Given the description of an element on the screen output the (x, y) to click on. 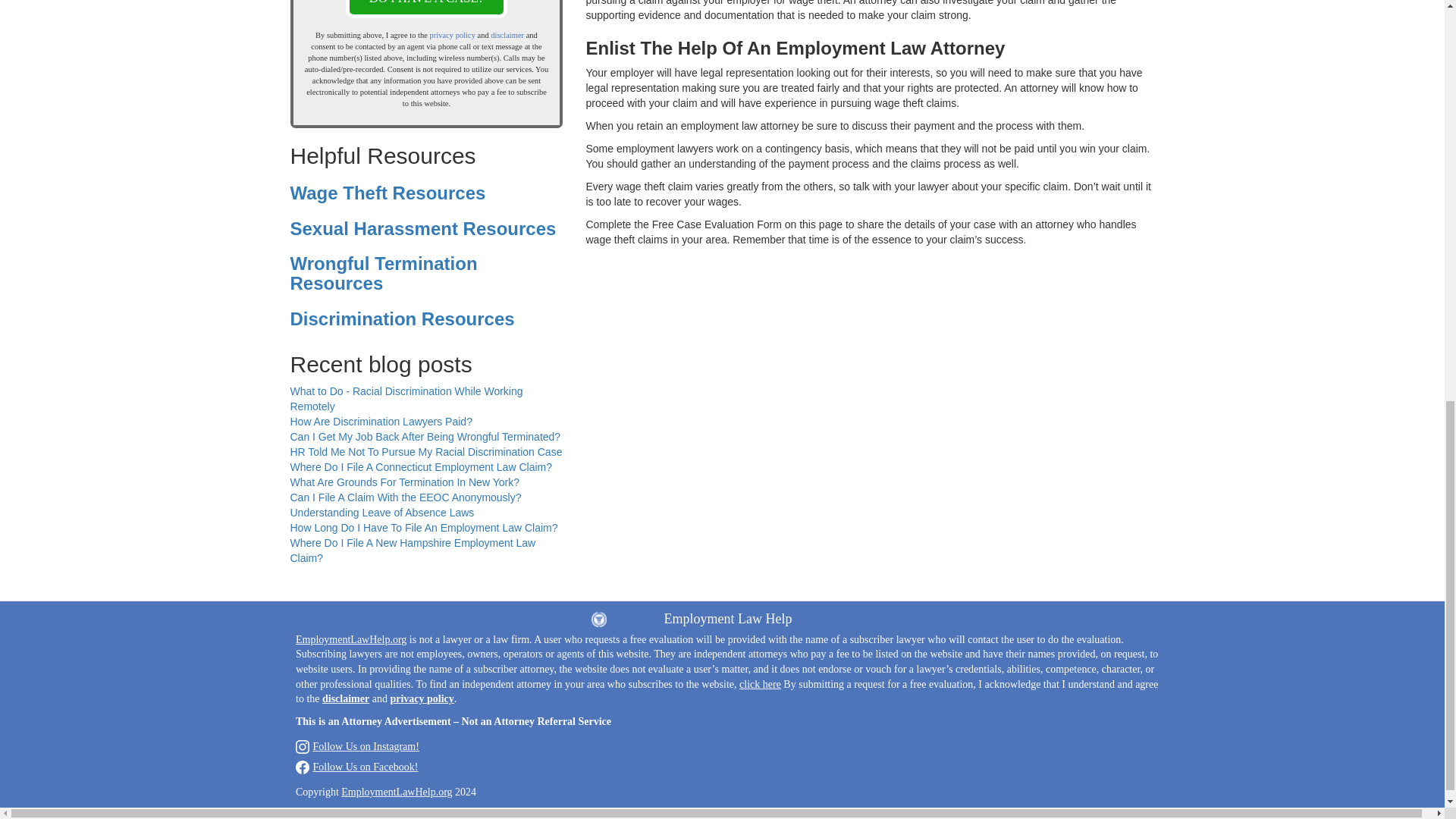
DO I HAVE A CASE? (427, 9)
What to Do - Racial Discrimination While Working Remotely (405, 398)
privacy policy (421, 698)
click here (759, 684)
What Are Grounds For Termination In New York? (403, 481)
EmploymentLawHelp.org (350, 639)
Where Do I File A Connecticut Employment Law Claim? (420, 467)
disclaimer (507, 35)
Wrongful Termination Resources (383, 273)
HR Told Me Not To Pursue My Racial Discrimination Case (425, 451)
Wage Theft Resources (386, 192)
privacy policy (452, 35)
Follow Us on Facebook! (356, 767)
Sexual Harassment Resources (422, 228)
Where Do I File A New Hampshire Employment Law Claim? (412, 550)
